Given the description of an element on the screen output the (x, y) to click on. 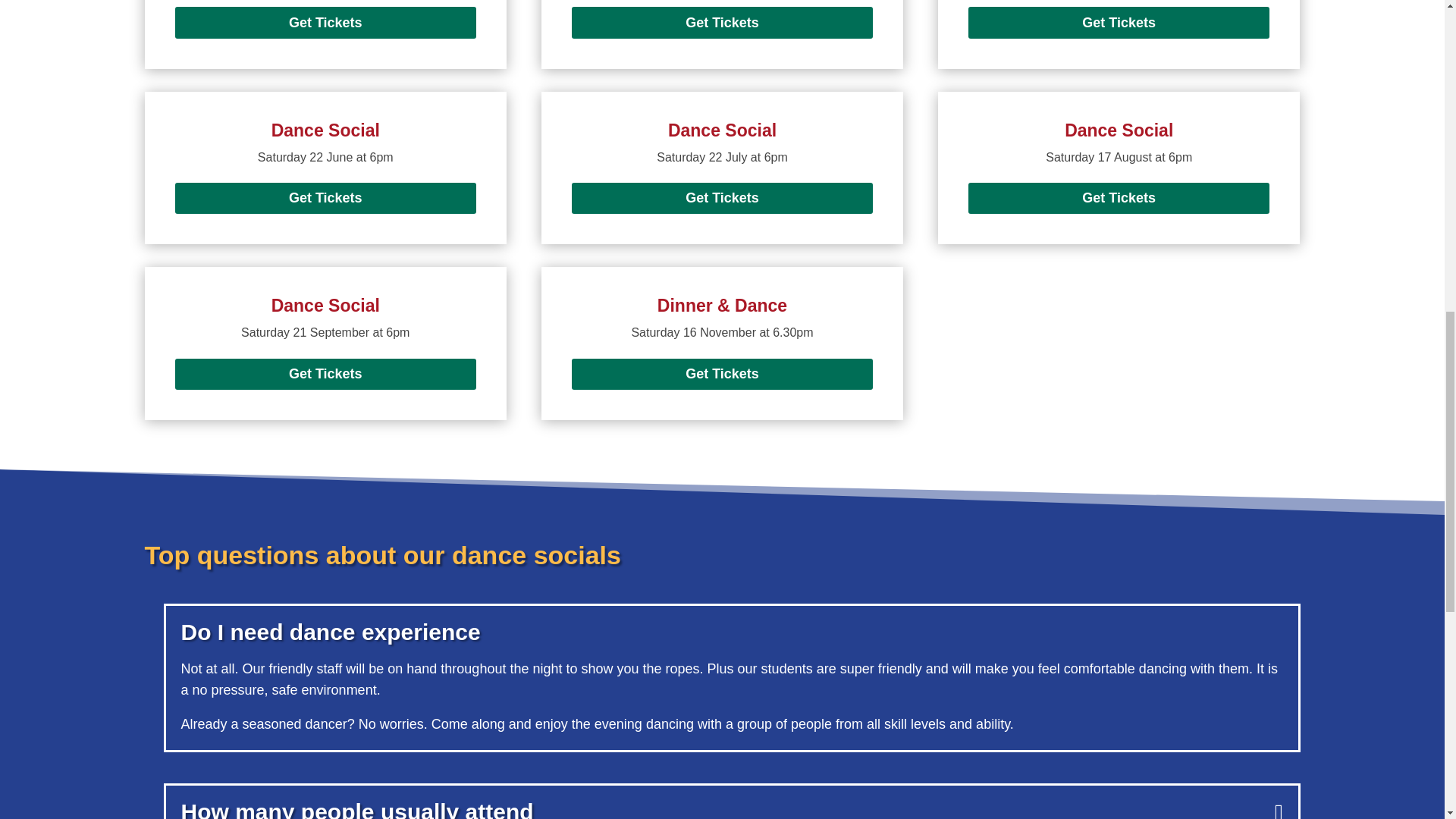
Get Tickets (1118, 197)
Get Tickets (722, 197)
Get Tickets (325, 373)
Get Tickets (1118, 21)
Get Tickets (325, 197)
Get Tickets (722, 21)
Get Tickets (325, 21)
Get Tickets (722, 373)
